Given the description of an element on the screen output the (x, y) to click on. 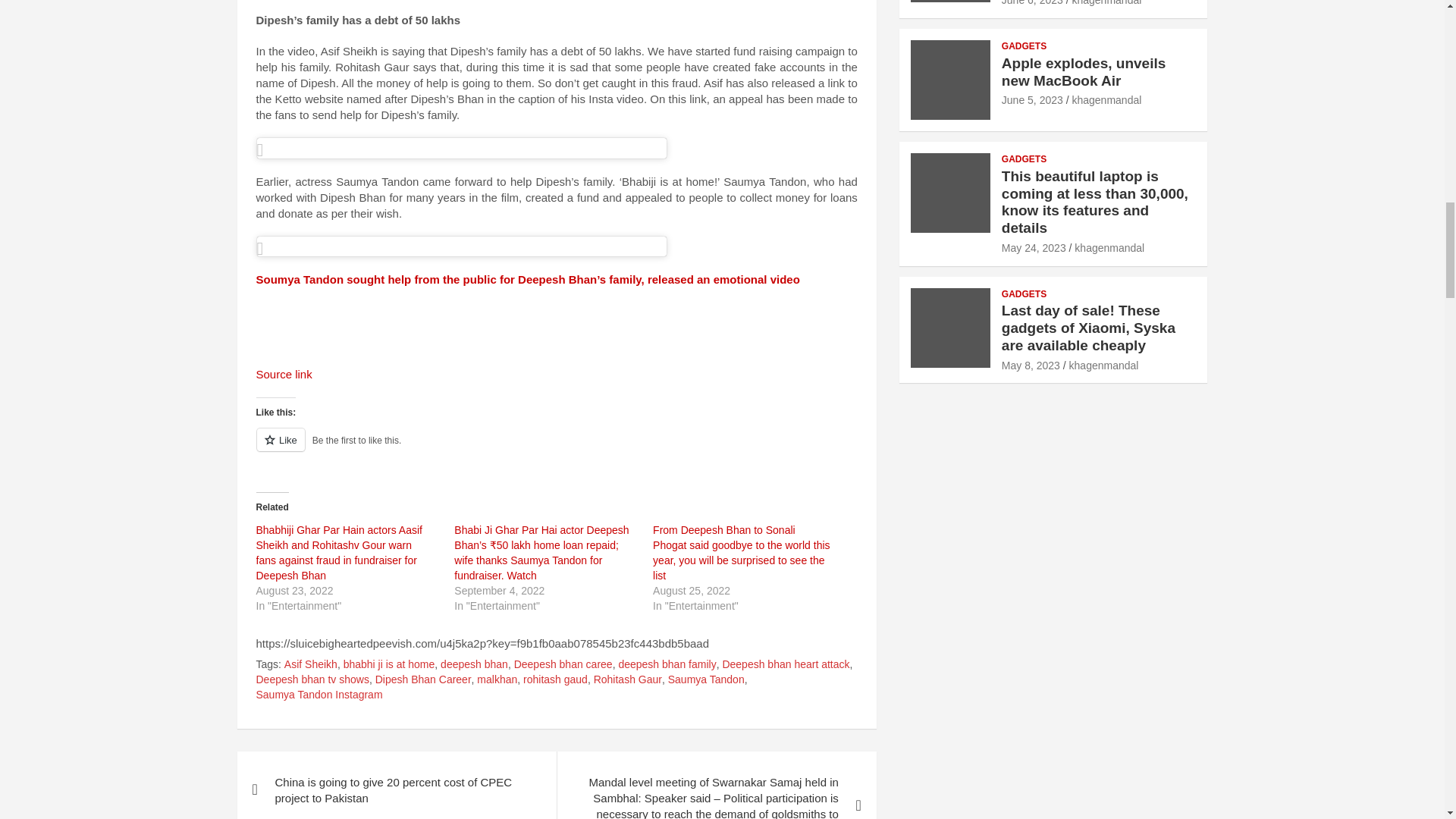
Apple explodes, unveils new MacBook Air (1031, 100)
Like or Reblog (556, 448)
